Given the description of an element on the screen output the (x, y) to click on. 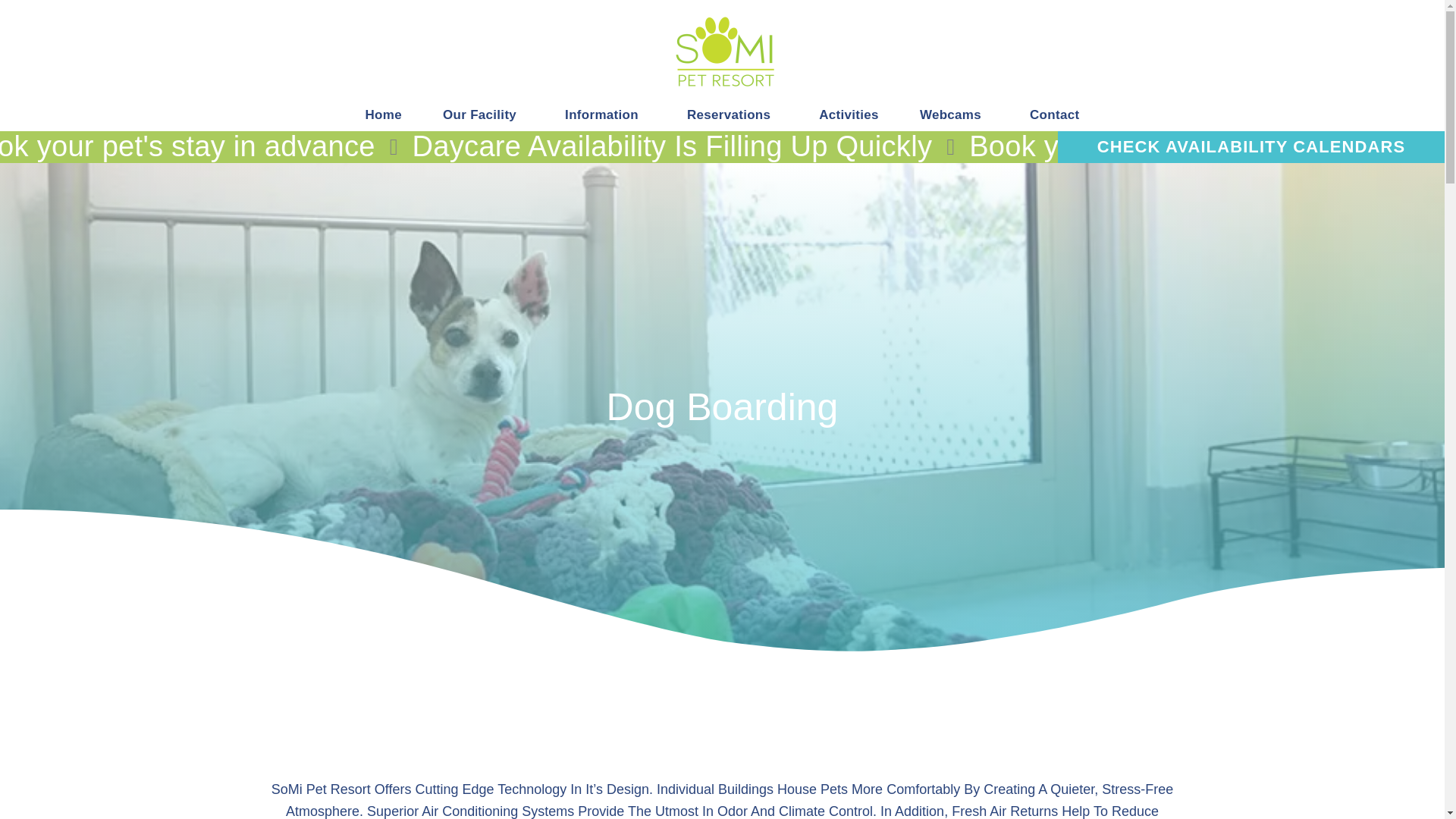
CHECK AVAILABILITY CALENDARS (1251, 146)
Activities (848, 114)
Home (383, 114)
Information (605, 114)
Reservations (731, 114)
Contact (1054, 114)
Our Facility (483, 114)
Webcams (954, 114)
